Given the description of an element on the screen output the (x, y) to click on. 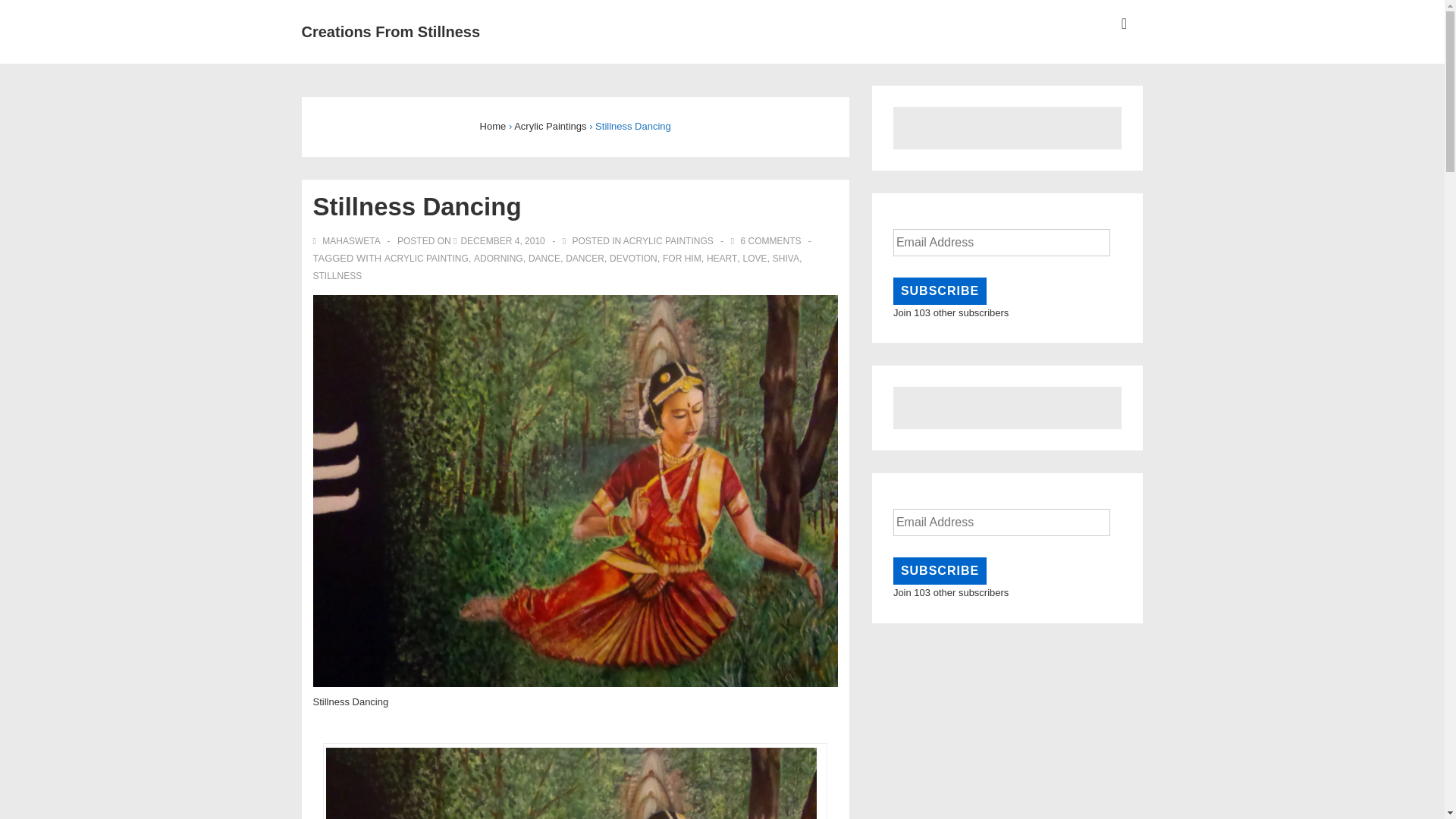
DECEMBER 4, 2010 (502, 240)
ACRYLIC PAINTINGS (668, 240)
ACRYLIC PAINTING (426, 258)
Stillness Dancing (502, 240)
Acrylic Paintings (549, 125)
SHIVA (786, 258)
LOVE (754, 258)
Creations From Stillness (390, 31)
Home (493, 125)
MAHASWETA (347, 240)
STILLNESS (337, 275)
DANCE (544, 258)
MENU (1123, 23)
6 COMMENTS (769, 240)
View all posts by Mahasweta (347, 240)
